Given the description of an element on the screen output the (x, y) to click on. 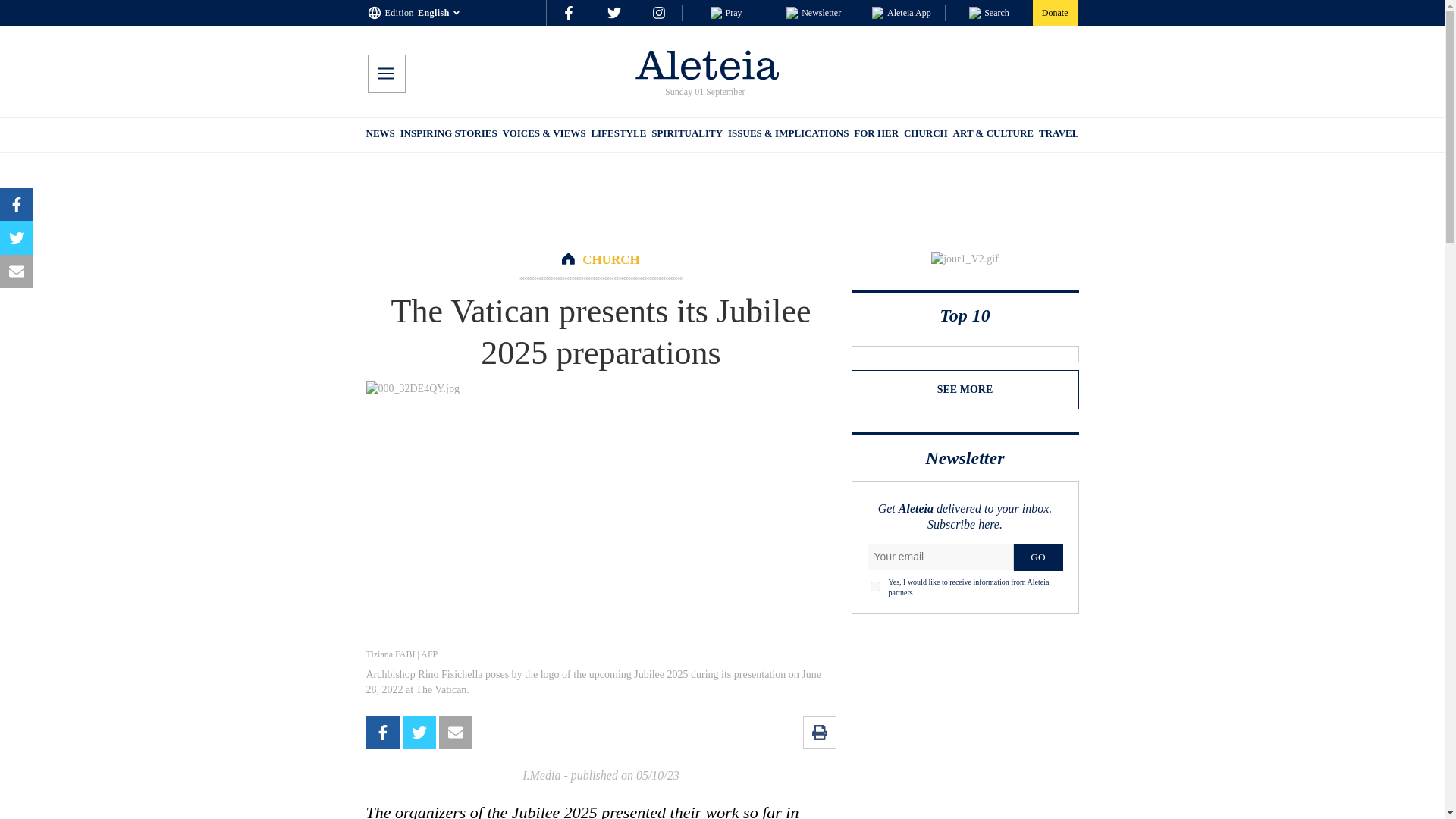
CHURCH (611, 259)
Aleteia App (901, 12)
Search (989, 12)
TRAVEL (1058, 134)
Pray (725, 12)
FOR HER (875, 134)
LIFESTYLE (618, 134)
Newsletter (813, 12)
SPIRITUALITY (686, 134)
Donate (1054, 12)
